Given the description of an element on the screen output the (x, y) to click on. 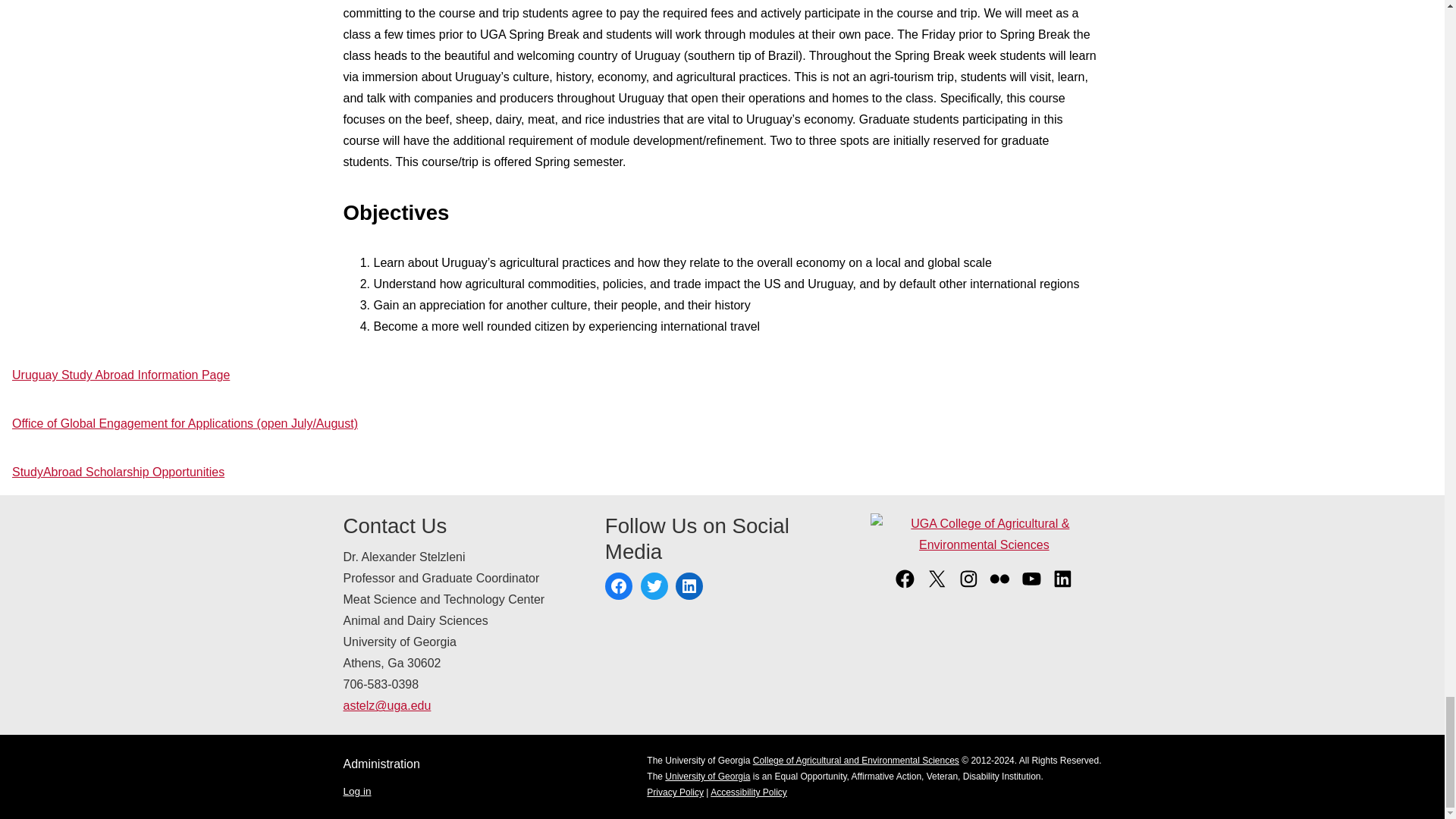
StudyAbroad Scholarship Opportunities (117, 472)
Uruguay Study Abroad Information Page (120, 374)
Twitter (654, 585)
X (936, 585)
YouTube (1031, 585)
LinkedIn (689, 585)
Flickr (999, 585)
Facebook (618, 585)
Facebook (904, 585)
Instagram (968, 585)
